Given the description of an element on the screen output the (x, y) to click on. 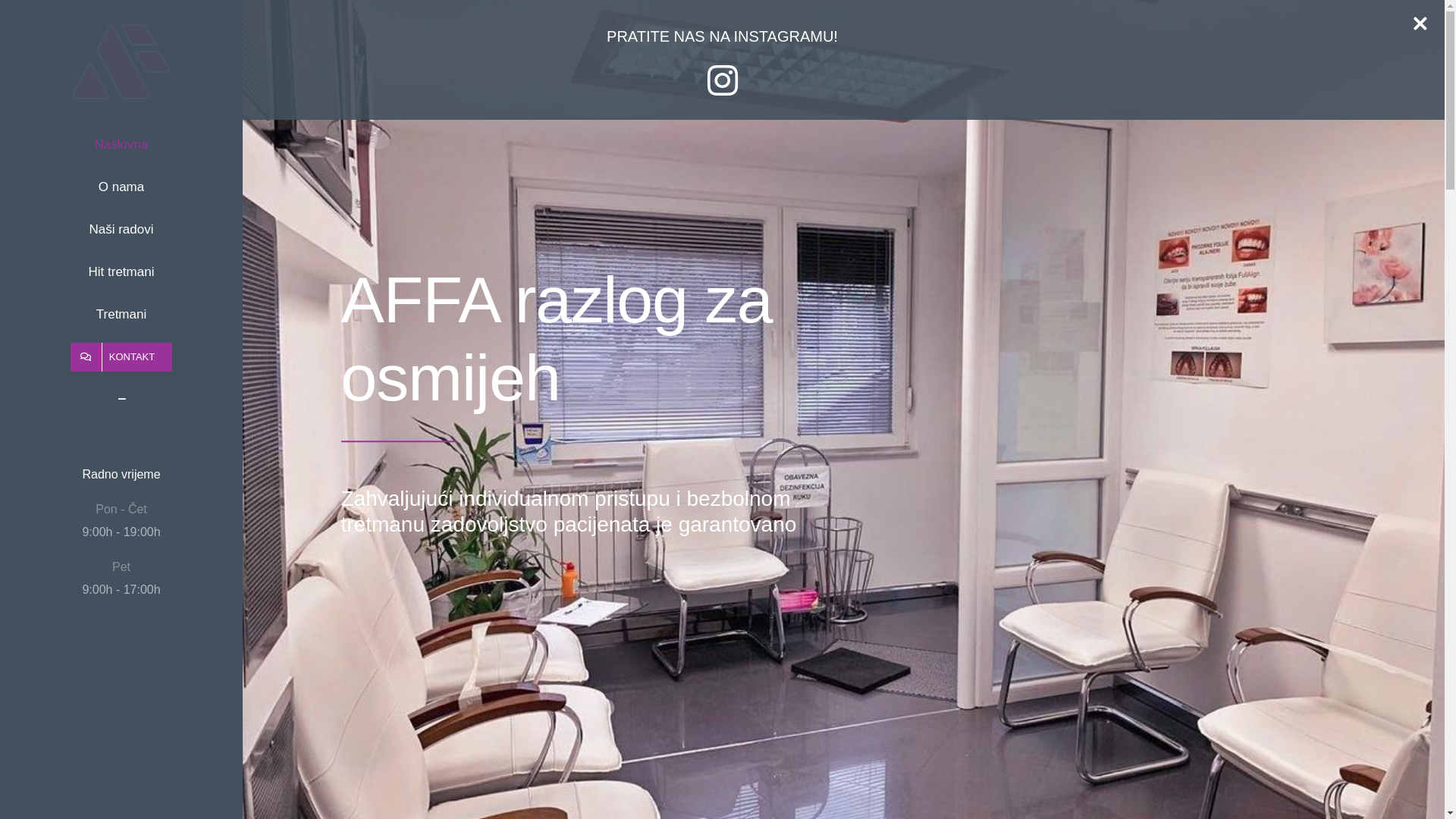
Naslovna Element type: text (121, 144)
Close Sliding Bar Area Element type: text (1415, 15)
KONTAKT Element type: text (121, 356)
Toggle Sliding Bar Element type: hover (121, 399)
Hit tretmani Element type: text (121, 272)
O nama Element type: text (121, 187)
Tretmani Element type: text (121, 314)
